Given the description of an element on the screen output the (x, y) to click on. 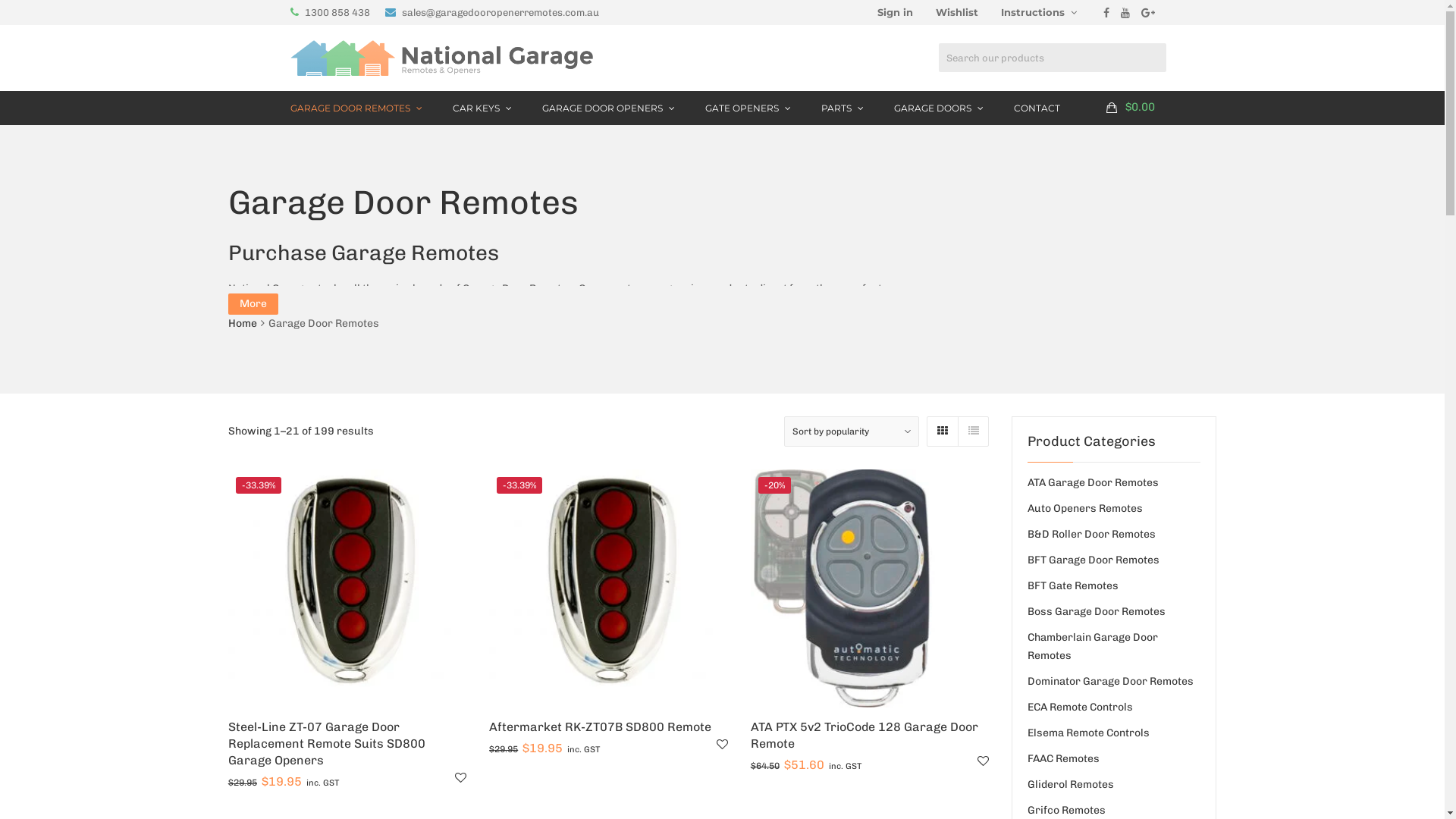
Home Element type: text (242, 322)
ATA Garage Door Remotes Element type: text (1092, 482)
CAR KEYS Element type: text (481, 107)
Aftermarket RK-ZT07B SD800 Remote Element type: text (600, 726)
Boss Garage Door Remotes Element type: text (1096, 611)
Grifco Remotes Element type: text (1066, 809)
Auto Openers Remotes Element type: text (1084, 508)
1300 858 438 Element type: text (337, 11)
GARAGE DOORS Element type: text (937, 107)
Wishlist Element type: text (955, 12)
List Element type: hover (972, 431)
GARAGE DOOR OPENERS Element type: text (607, 107)
Google plus Element type: hover (1147, 12)
-20% Element type: text (869, 588)
-33.39% Element type: text (347, 588)
More Element type: text (253, 303)
Instructions Element type: text (1037, 12)
CONTACT Element type: text (1035, 107)
Dominator Garage Door Remotes Element type: text (1110, 680)
B&D Roller Door Remotes Element type: text (1091, 533)
Youtube Element type: hover (1124, 12)
PARTS Element type: text (841, 107)
BFT Garage Door Remotes Element type: text (1093, 559)
Elsema Remote Controls Element type: text (1088, 732)
sales@garagedooropenerremotes.com.au Element type: text (500, 11)
Sign in Element type: text (895, 12)
Chamberlain Garage Door Remotes Element type: text (1092, 646)
-33.39% Element type: text (608, 588)
GARAGE DOOR REMOTES Element type: text (355, 107)
Grid Element type: hover (942, 431)
Facebook Element type: hover (1105, 12)
GATE OPENERS Element type: text (748, 107)
ATA PTX 5v2 TrioCode 128 Garage Door Remote Element type: text (864, 734)
BFT Gate Remotes Element type: text (1072, 585)
Gliderol Remotes Element type: text (1070, 784)
FAAC Remotes Element type: text (1063, 758)
ECA Remote Controls Element type: text (1079, 706)
